Given the description of an element on the screen output the (x, y) to click on. 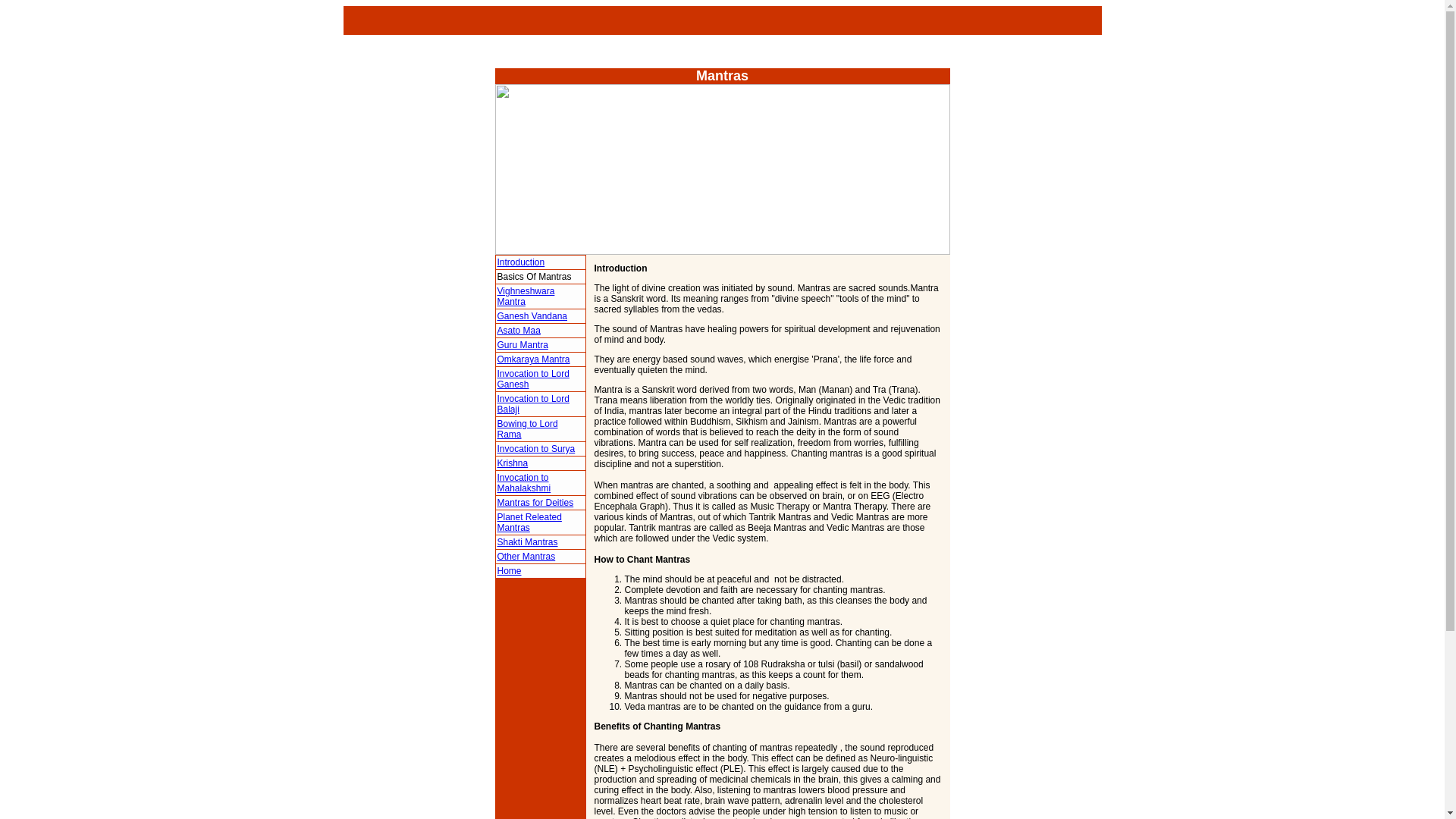
Omkaraya Mantra (533, 358)
Vighneshwara Mantra (525, 296)
Invocation to Lord Balaji (533, 403)
Invocation to Surya (536, 448)
Guru Mantra (522, 344)
Shakti Mantras (527, 542)
Asato Maa (518, 330)
Krishna (512, 462)
Other Mantras (526, 556)
Invocation to Mahalakshmi (524, 482)
